Given the description of an element on the screen output the (x, y) to click on. 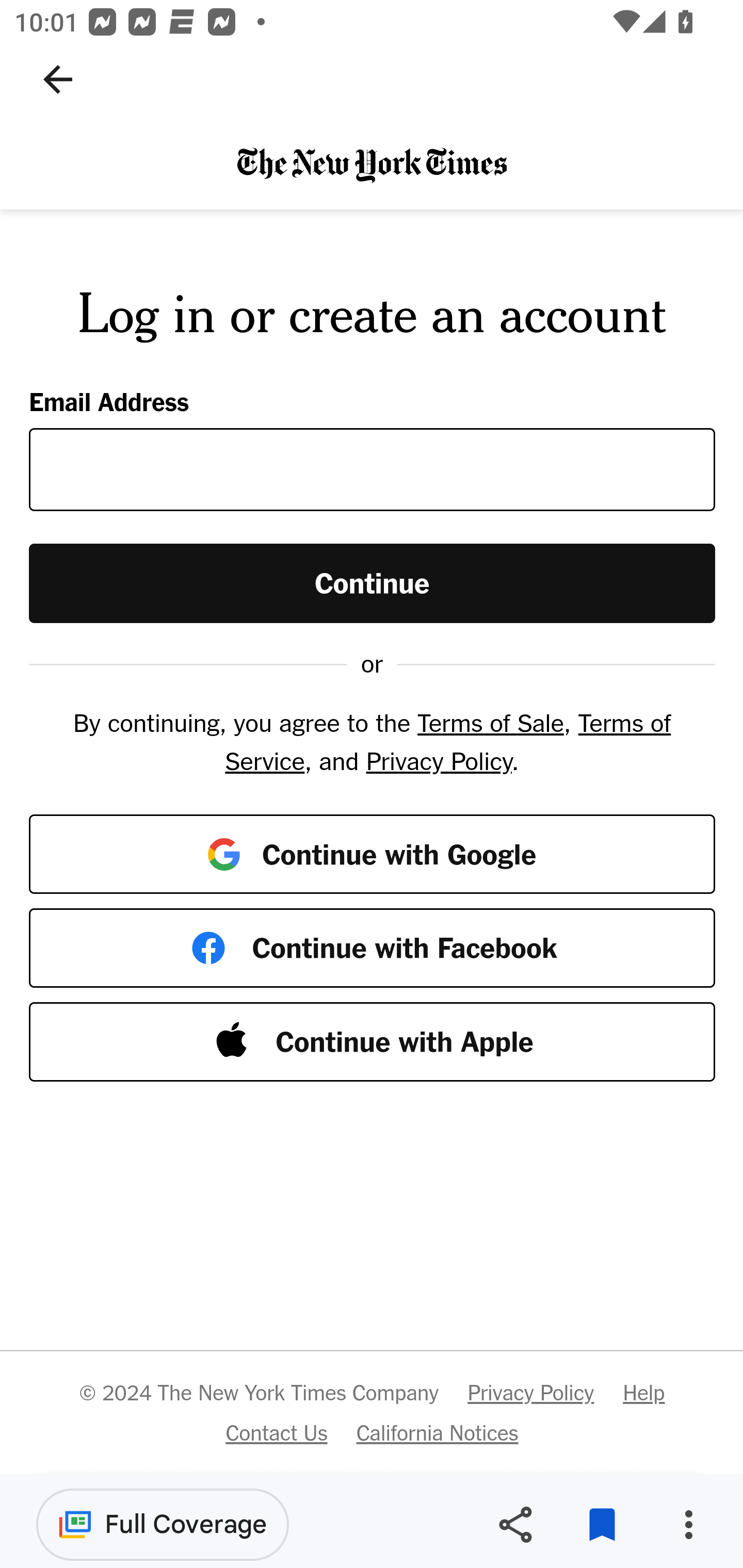
Navigate up (57, 79)
The New York Times (371, 164)
Continue (372, 582)
Terms of Service (447, 741)
Terms of Sale (490, 722)
Privacy Policy (438, 760)
Continue with Google (372, 853)
Continue with Facebook (372, 947)
Continue with Apple (372, 1041)
Privacy Policy (530, 1392)
Help (643, 1392)
Contact Us (275, 1432)
California Notices (437, 1432)
Share (514, 1524)
Remove from saved stories (601, 1524)
More options (688, 1524)
Full Coverage (162, 1524)
